Given the description of an element on the screen output the (x, y) to click on. 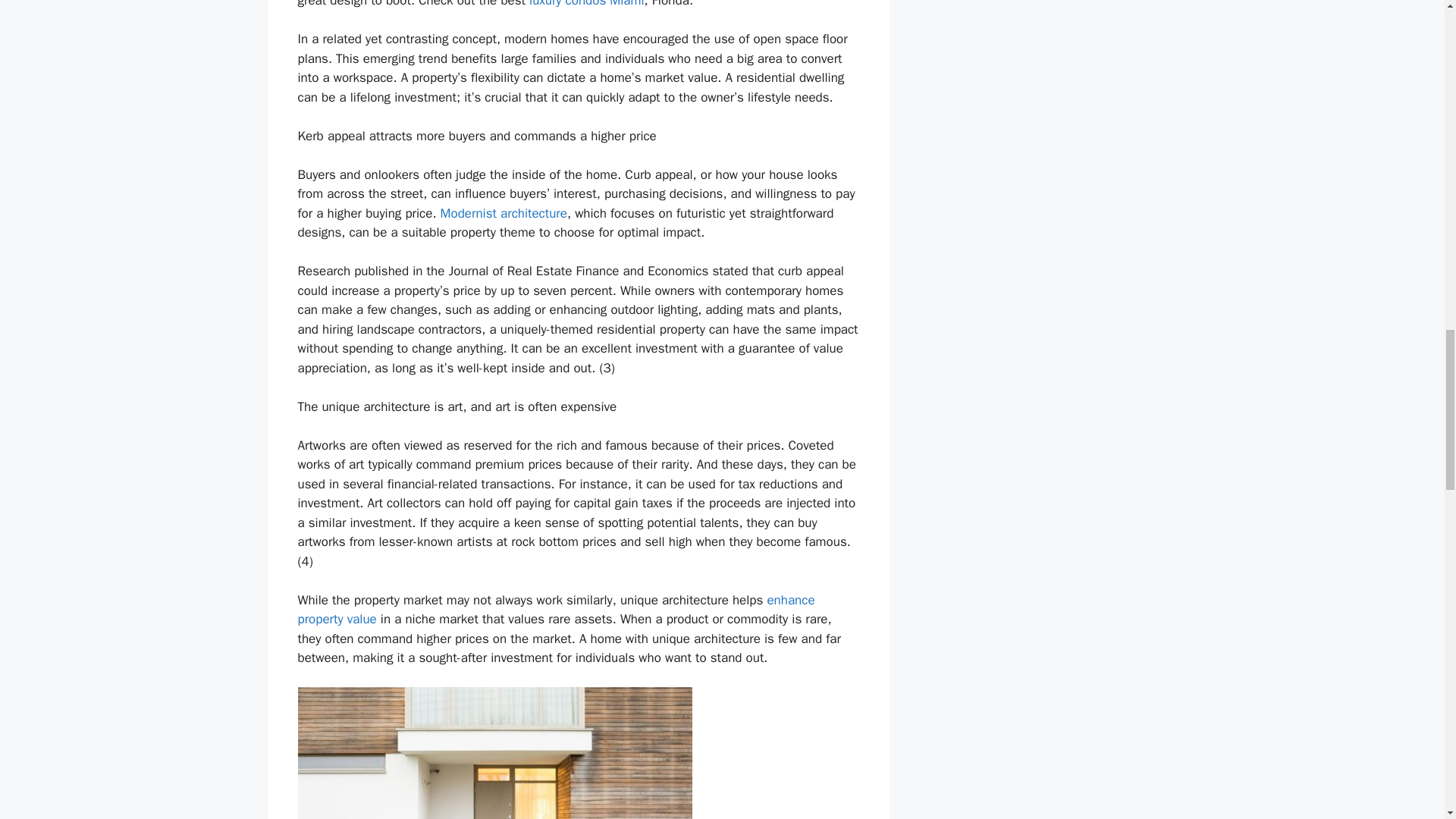
Modernist architecture (504, 213)
luxury condos Miami (586, 4)
enhance property value (555, 610)
